Given the description of an element on the screen output the (x, y) to click on. 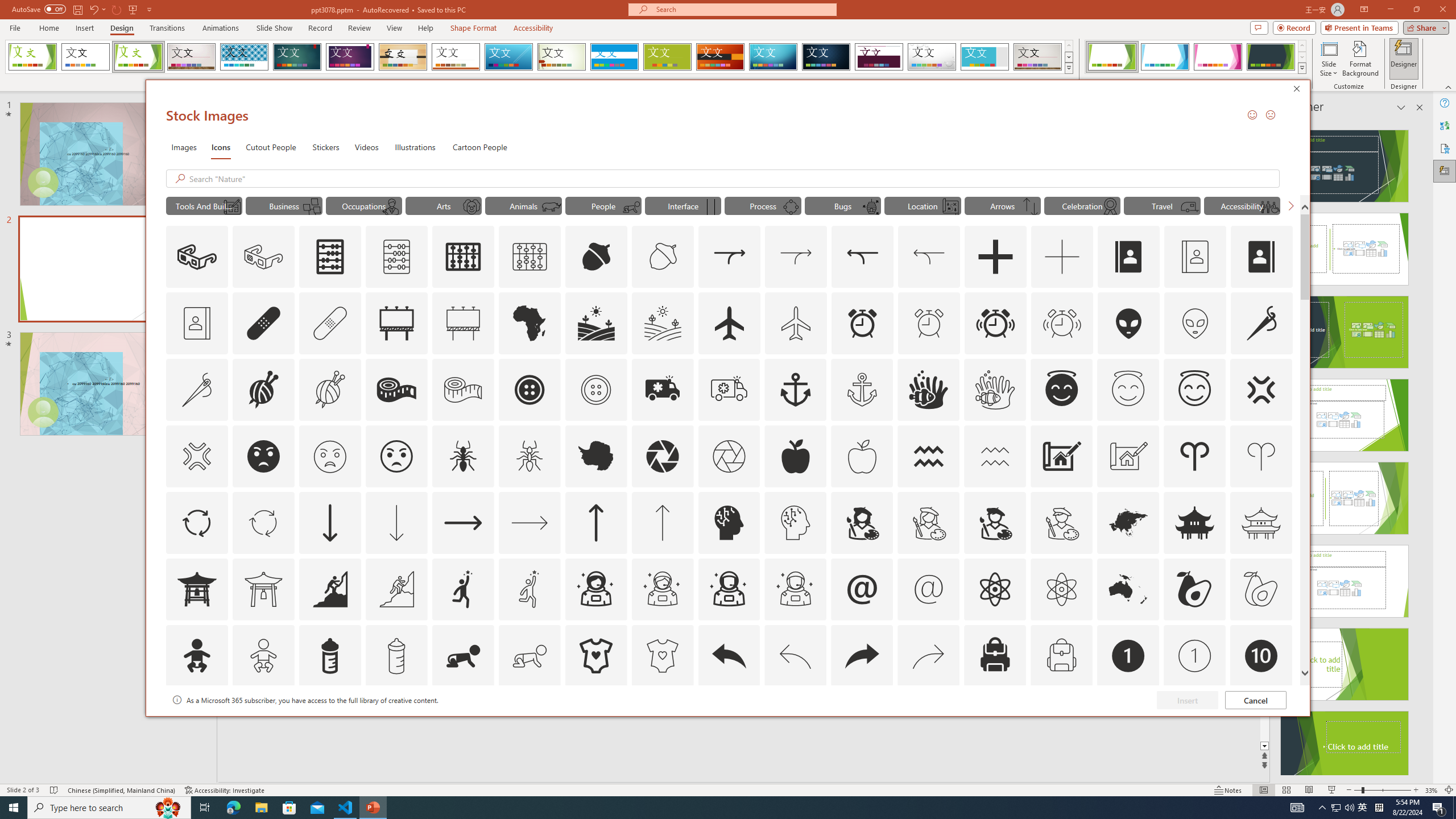
AutomationID: Icons_Africa (529, 323)
AutomationID: Icons_Badge8 (1061, 721)
AutomationID: Icons_Badge6 (795, 721)
AutomationID: Icons_Trailer_M (1190, 206)
Slide Size (1328, 58)
AutomationID: Icons_Badge9 (1194, 721)
AutomationID: Icons_BabyBottle (329, 655)
AutomationID: Icons_ArrowCircle (196, 522)
AutomationID: Icons_BeeWithHive_M (870, 206)
